Given the description of an element on the screen output the (x, y) to click on. 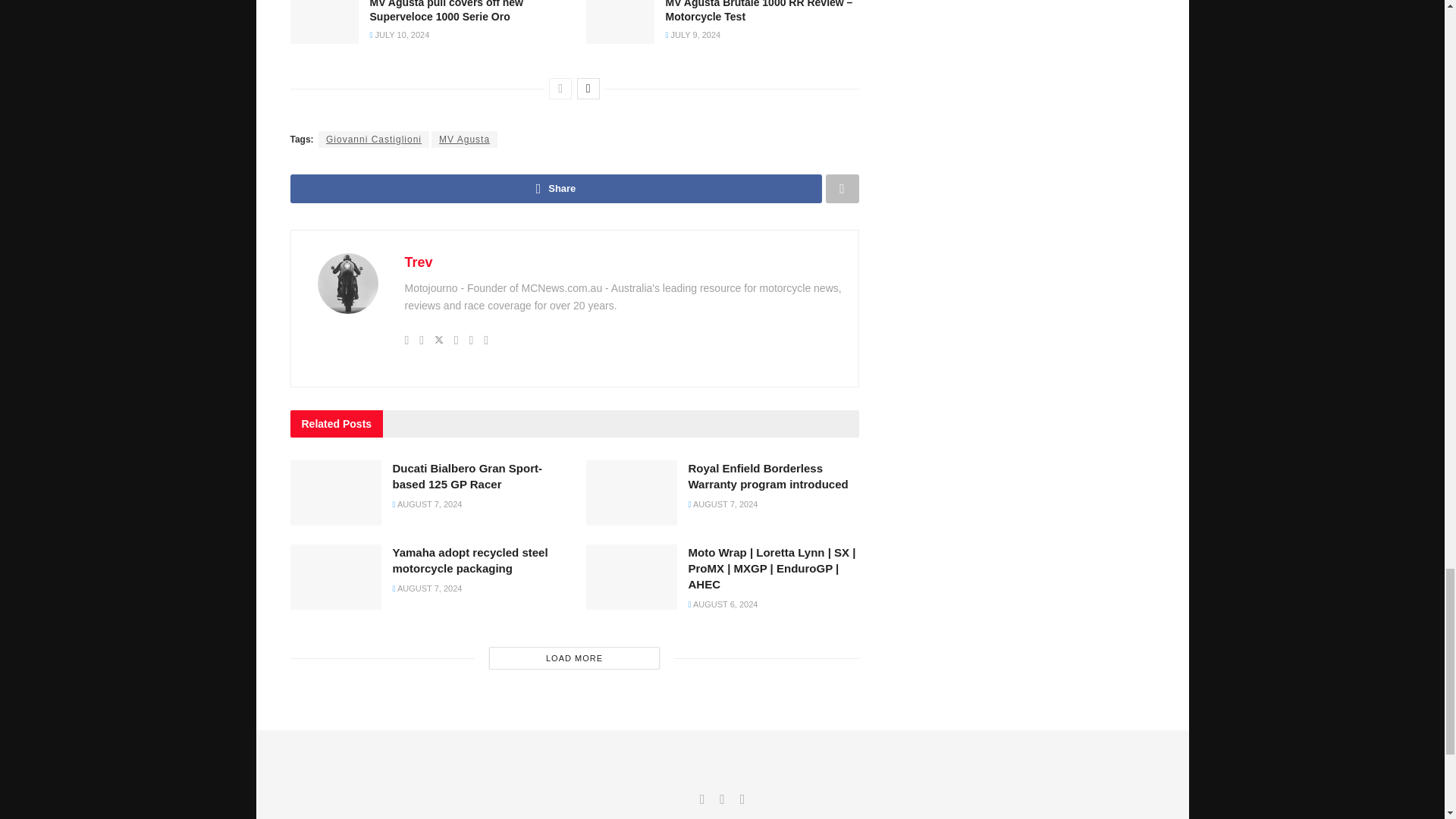
Previous (560, 88)
Next (587, 88)
